Given the description of an element on the screen output the (x, y) to click on. 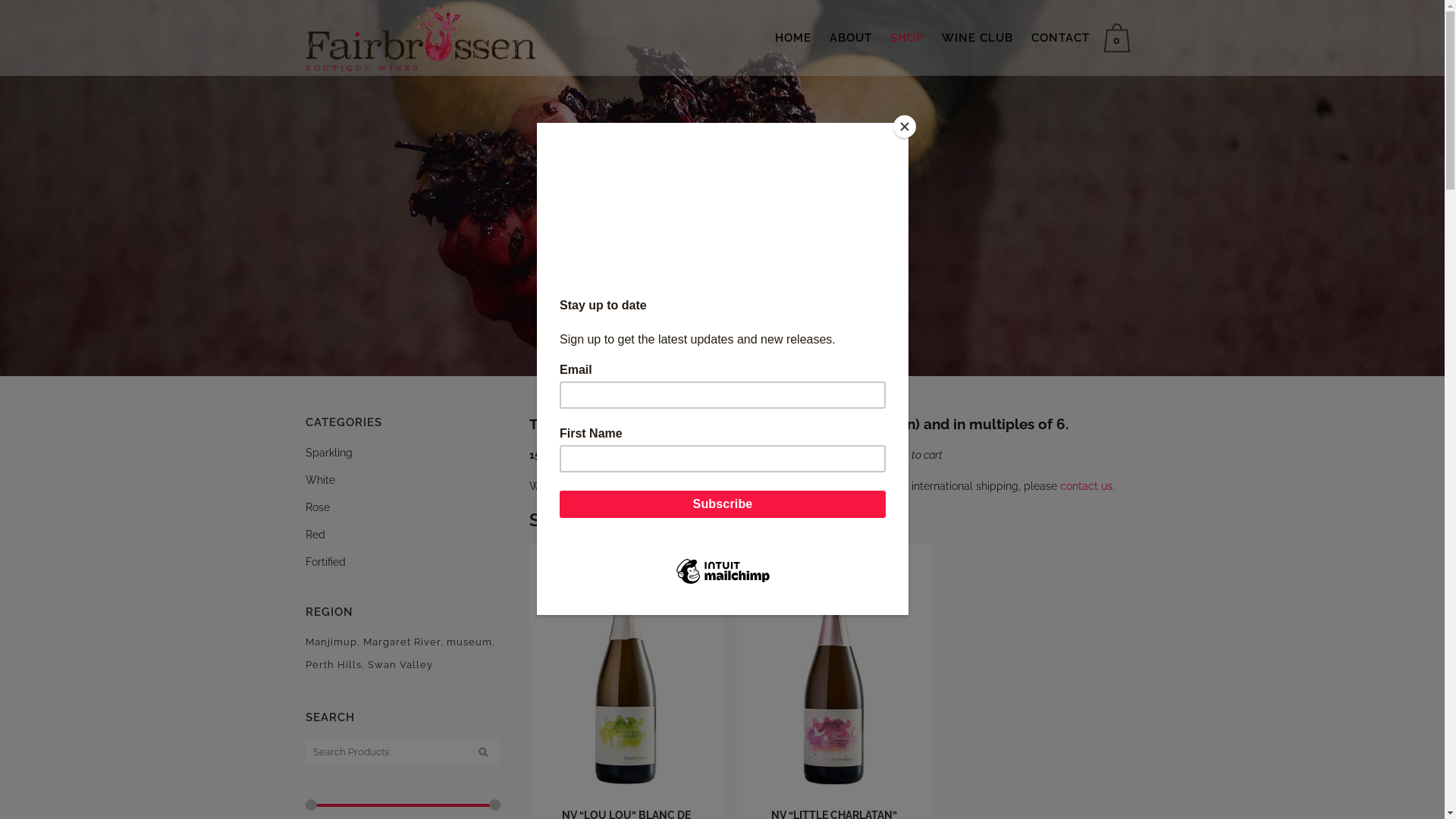
Perth Hills Element type: text (334, 664)
0 Element type: text (1120, 37)
ABOUT Element type: text (850, 37)
Sparkling Element type: text (327, 452)
Swan Valley Element type: text (399, 664)
contact us Element type: text (1086, 486)
Red Element type: text (314, 534)
HOME Element type: text (792, 37)
Margaret River Element type: text (402, 642)
CONTACT Element type: text (1060, 37)
SPARKLING Element type: text (583, 519)
Manjimup Element type: text (331, 642)
museum Element type: text (469, 642)
Fortified Element type: text (324, 561)
Rose Element type: text (316, 507)
SHOP Element type: text (906, 37)
WINE CLUB Element type: text (977, 37)
White Element type: text (319, 479)
